Given the description of an element on the screen output the (x, y) to click on. 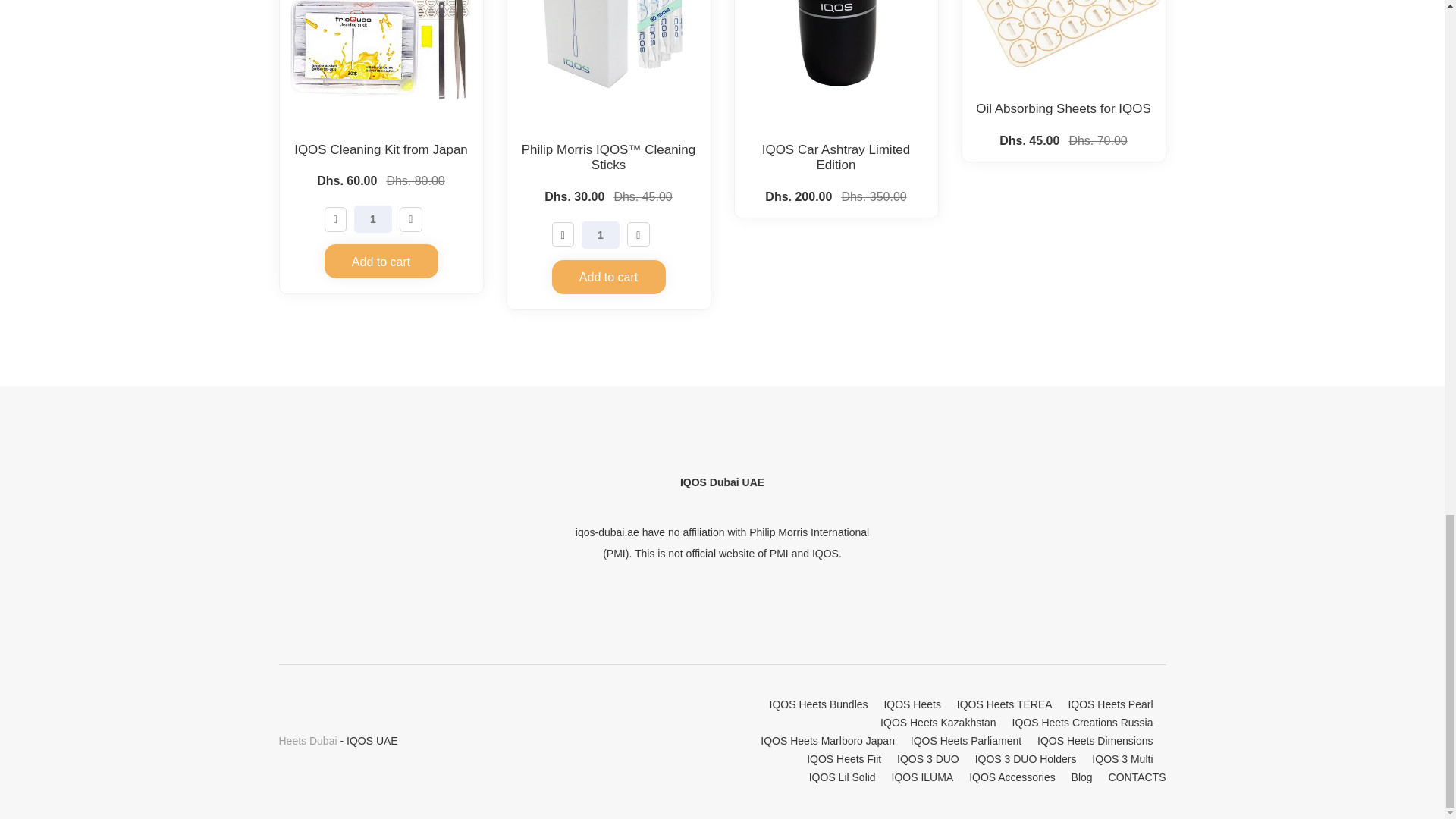
Add to cart (381, 261)
1 (372, 218)
Add to cart (608, 277)
1 (600, 234)
